Given the description of an element on the screen output the (x, y) to click on. 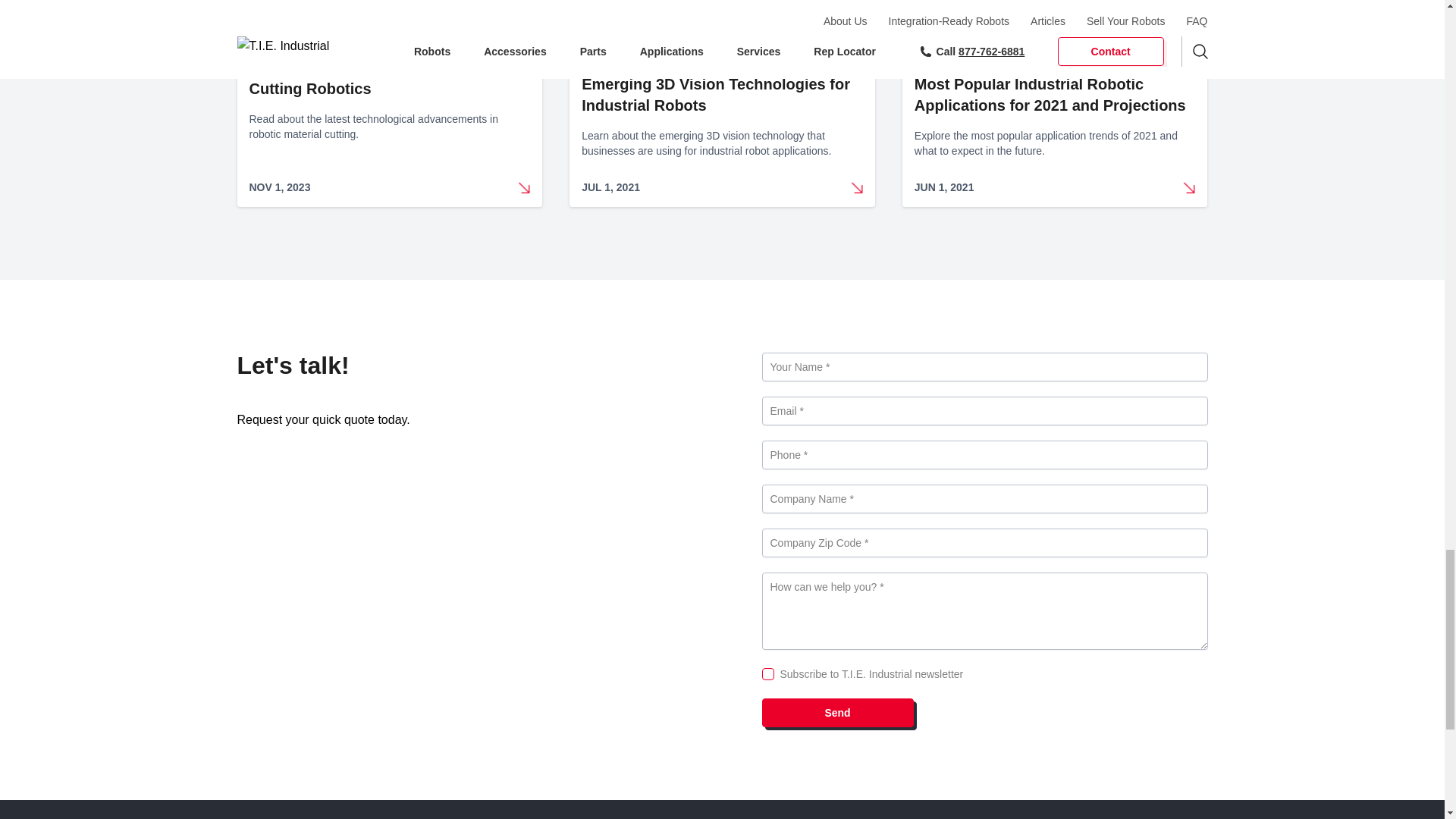
Yes (767, 674)
